Given the description of an element on the screen output the (x, y) to click on. 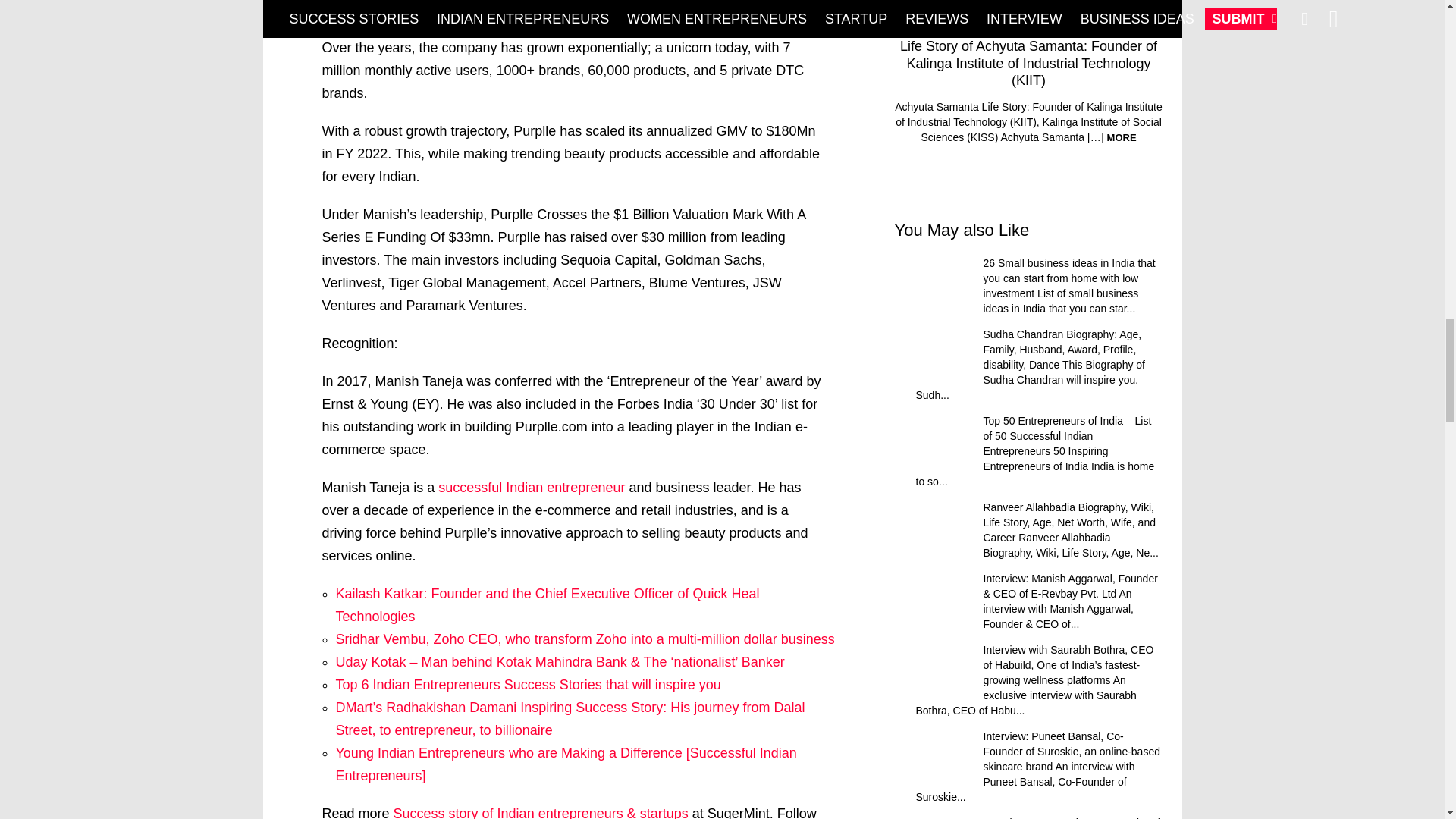
successful Indian entrepreneur (531, 487)
